Given the description of an element on the screen output the (x, y) to click on. 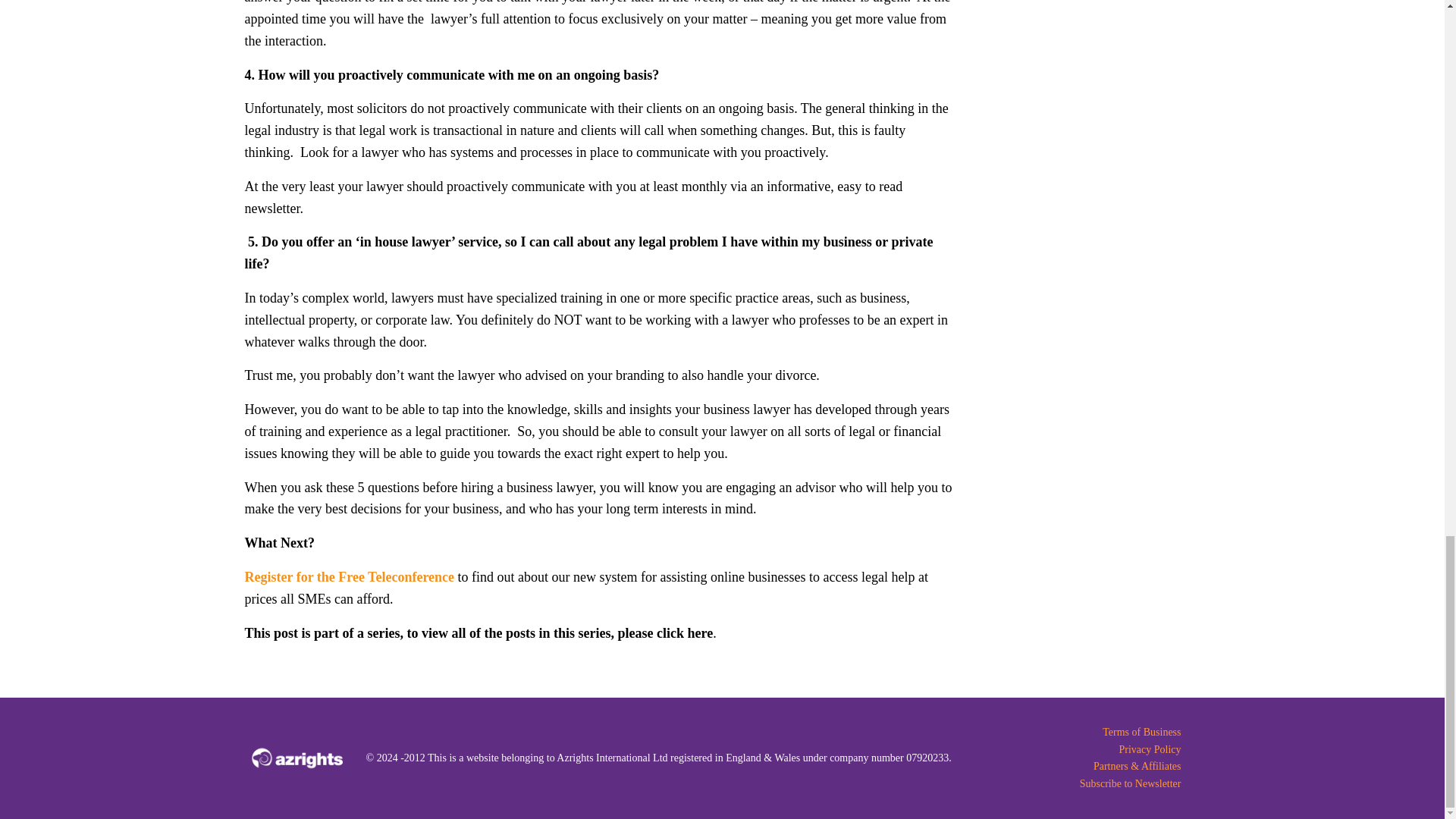
Subscribe to Newsletter (1079, 783)
Privacy Policy (1079, 750)
Terms of Business (1079, 732)
